Given the description of an element on the screen output the (x, y) to click on. 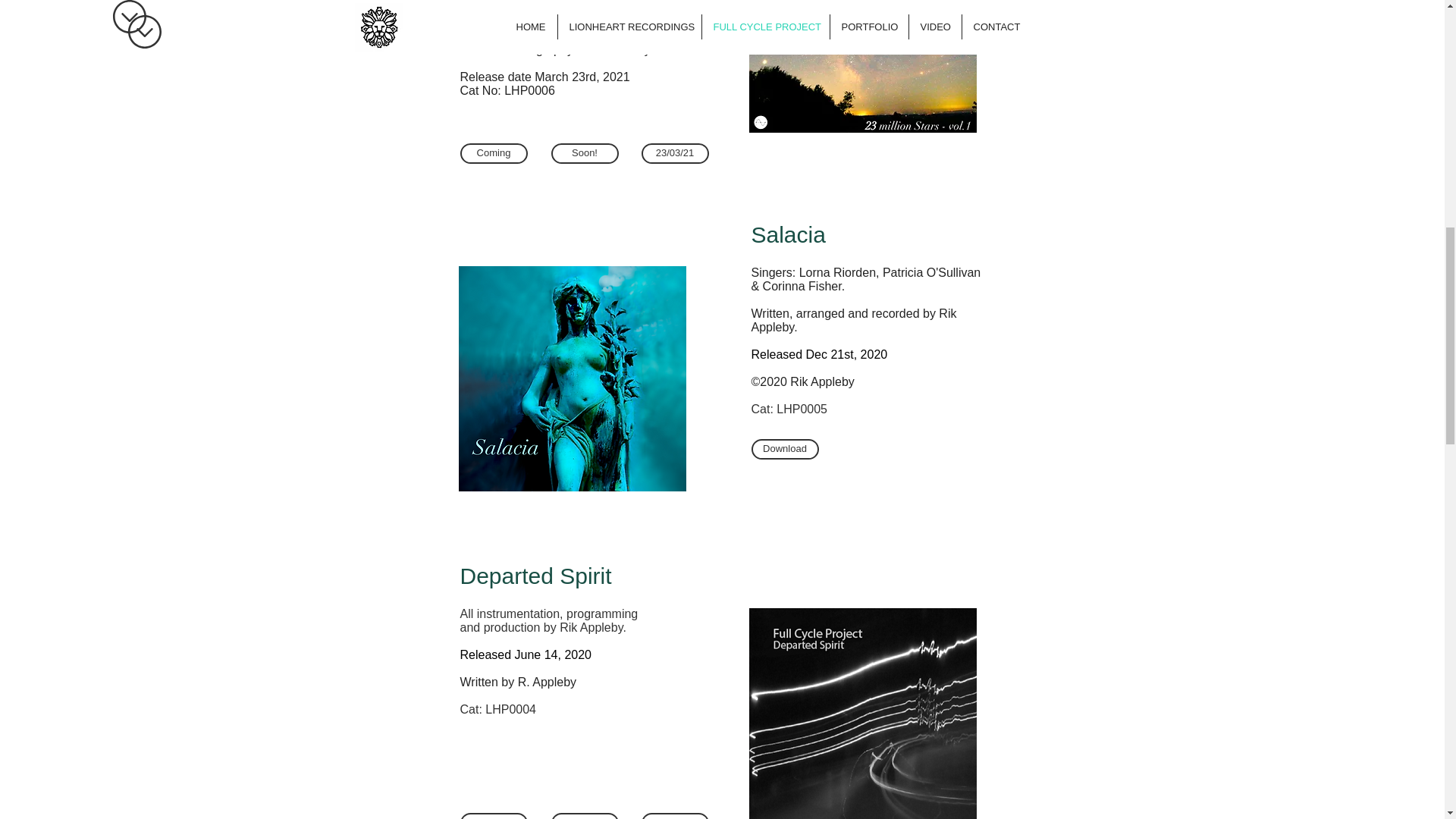
Download (784, 448)
Departed Spirit (535, 575)
Download (493, 816)
iTunes (675, 816)
Salacia (788, 234)
Spotify (583, 816)
